Given the description of an element on the screen output the (x, y) to click on. 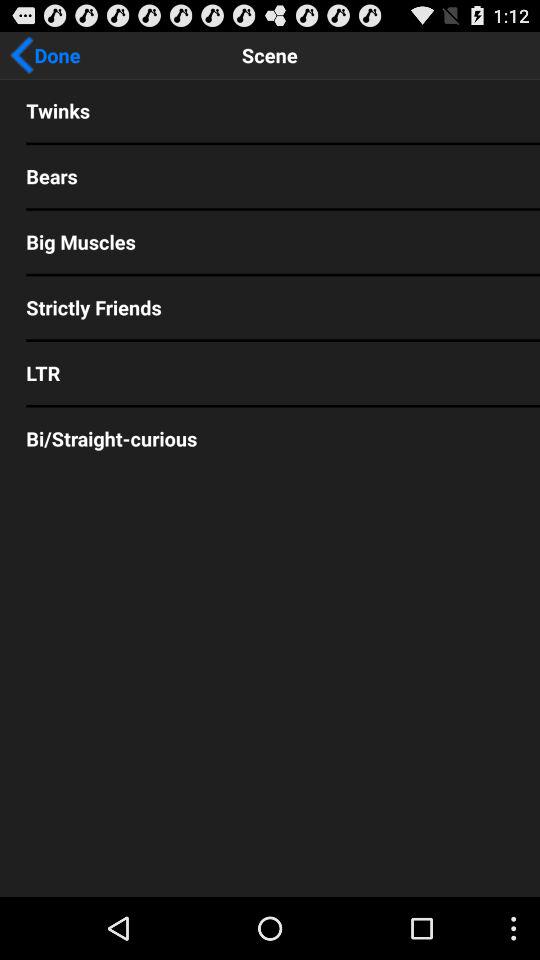
choose the done app (45, 55)
